Given the description of an element on the screen output the (x, y) to click on. 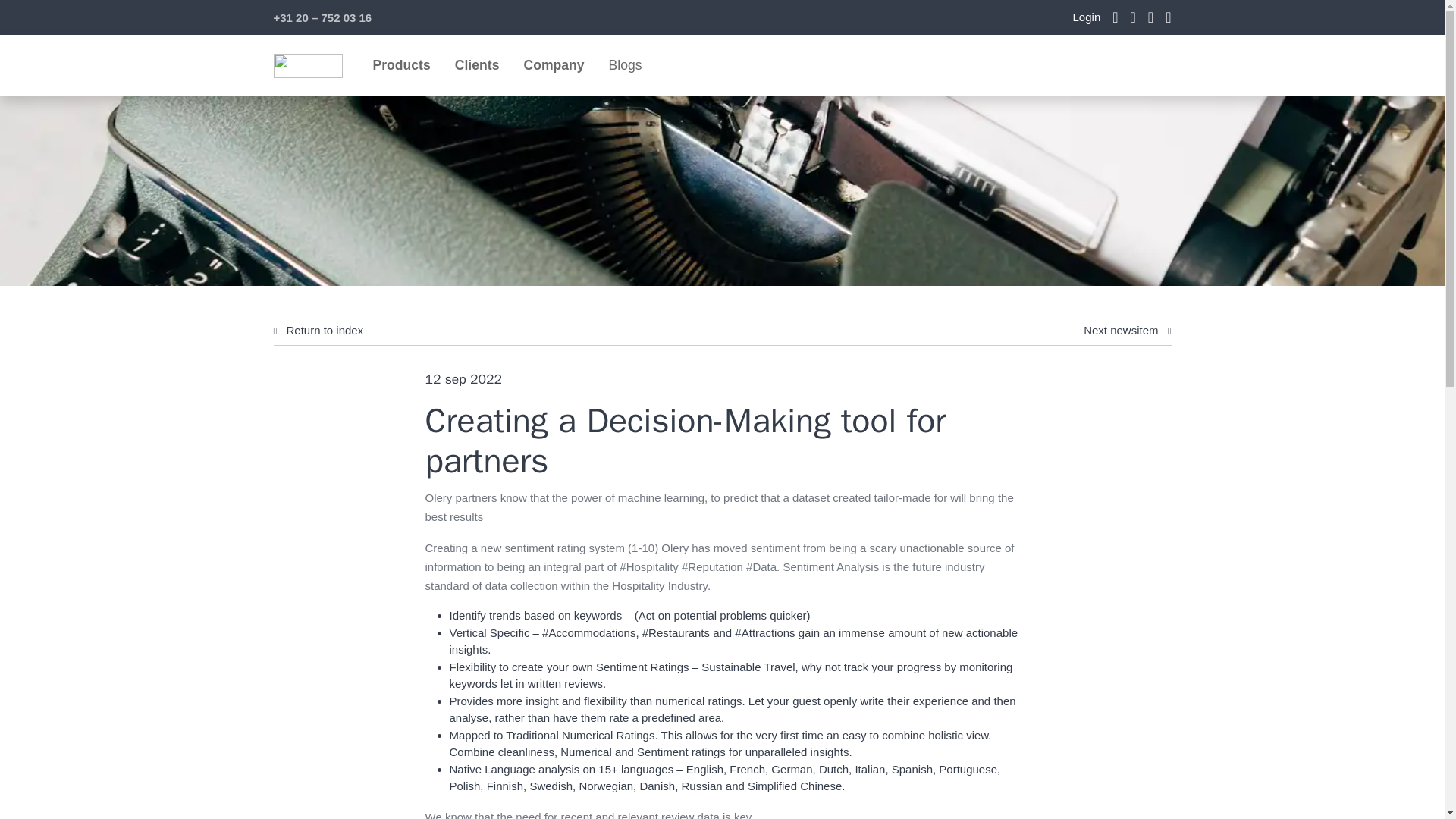
Next newsitem (1126, 330)
Blogs (624, 65)
Return to index (317, 330)
Login (1086, 17)
